Given the description of an element on the screen output the (x, y) to click on. 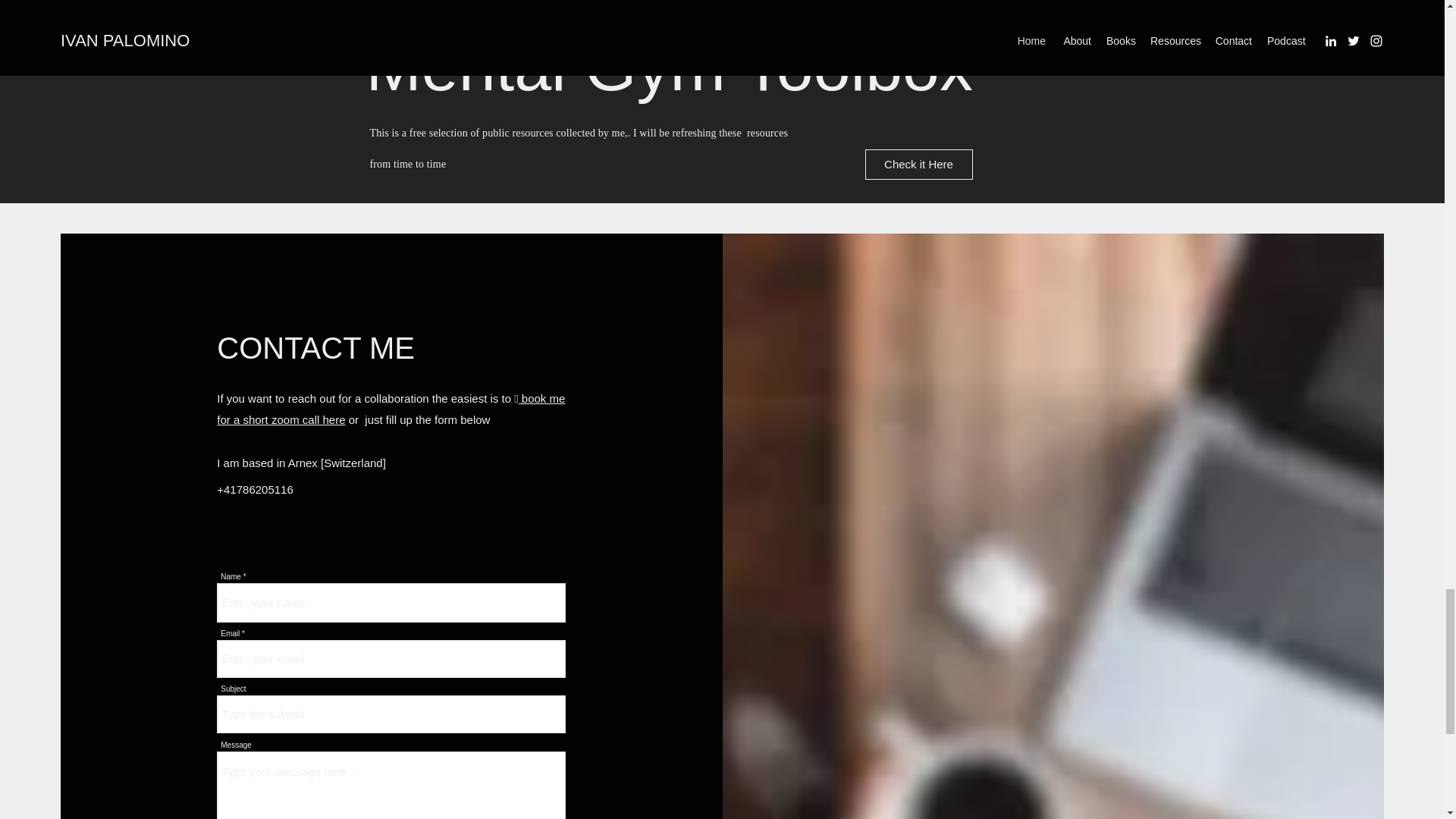
 book me for a short zoom call here (390, 408)
Check it Here (918, 164)
